Given the description of an element on the screen output the (x, y) to click on. 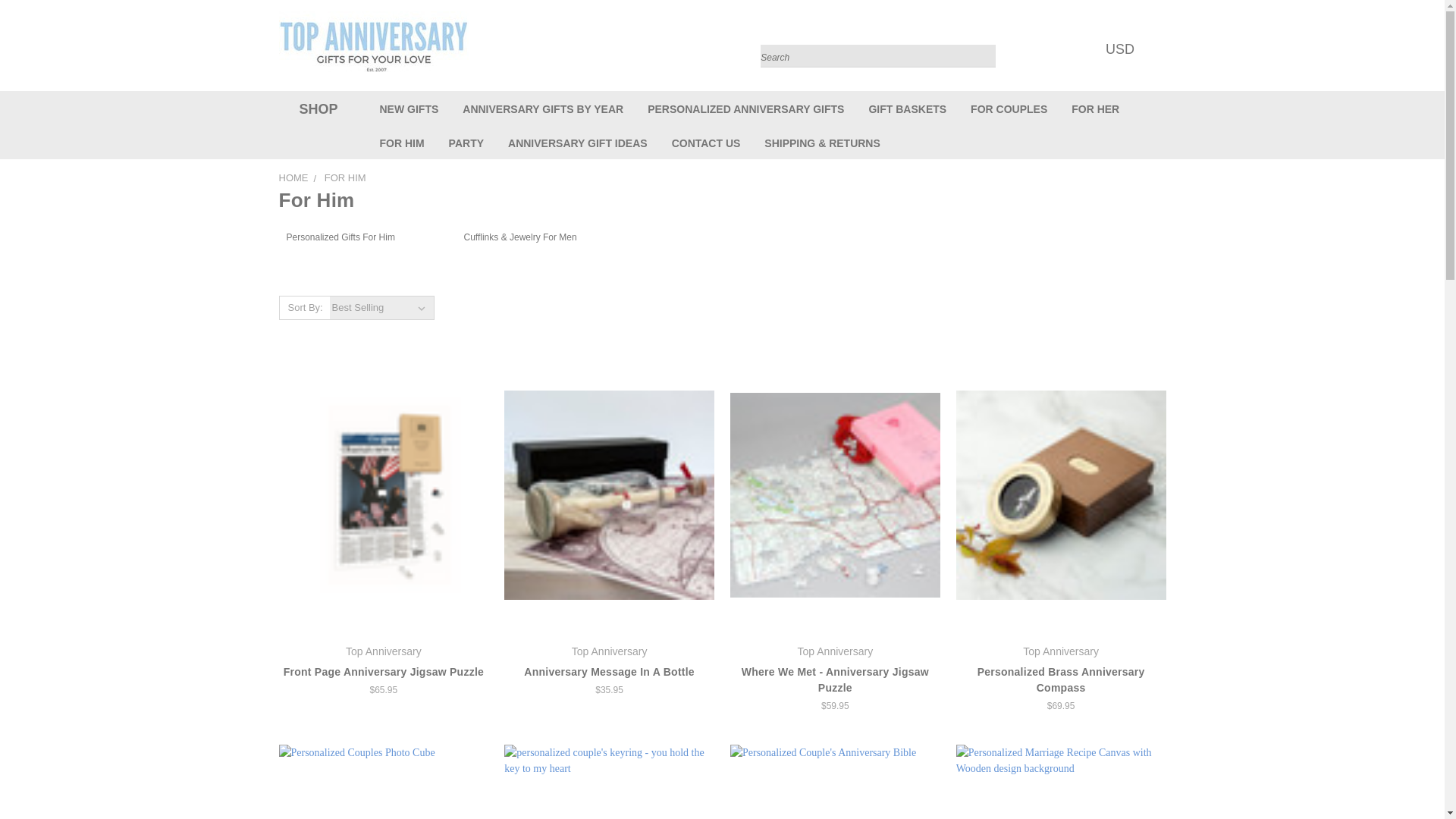
USD (1123, 49)
Personalized Couple's Anniversary Bible (835, 781)
Your wedding date front page jigsaw puzzle (384, 494)
Gift Certificates (1082, 48)
Anniversary message in a bottle (608, 494)
User Toolbox (1052, 48)
Top Anniversary Gifts (373, 44)
SHOP (314, 109)
Currency Selector (1123, 49)
